Given the description of an element on the screen output the (x, y) to click on. 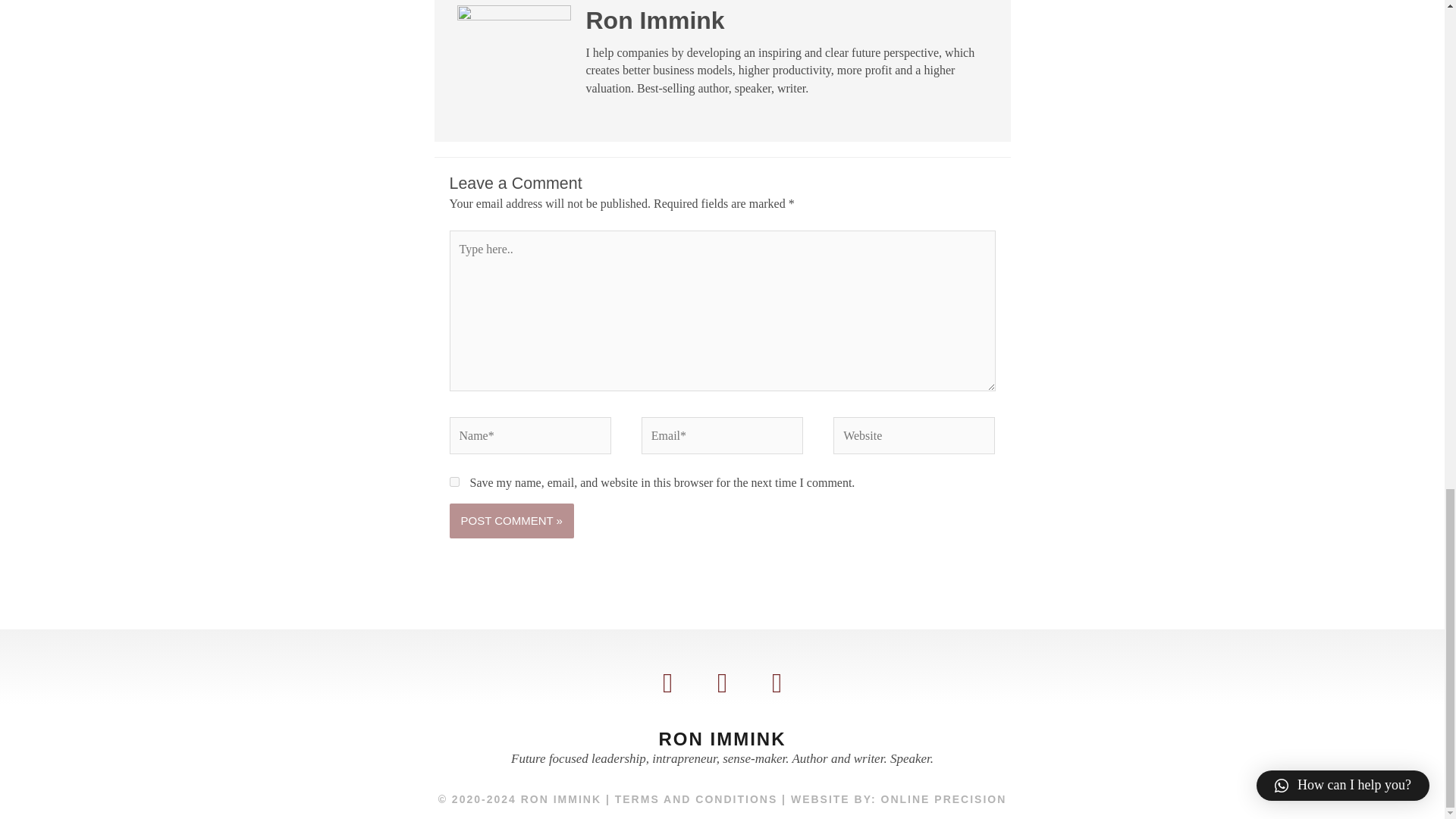
TERMS AND CONDITIONS (695, 799)
yes (453, 481)
ONLINE PRECISION (943, 799)
